Given the description of an element on the screen output the (x, y) to click on. 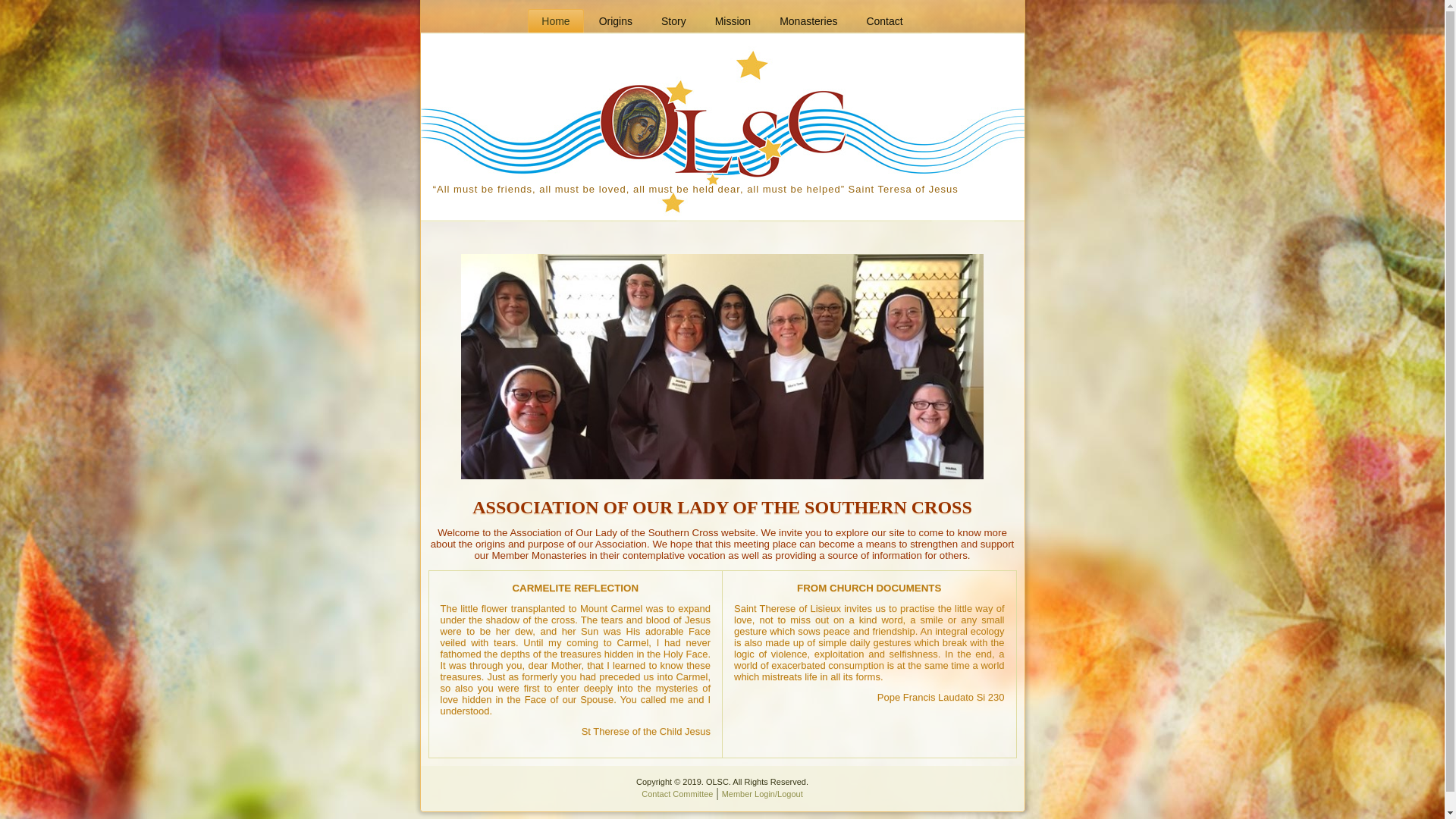
Contact Element type: text (884, 20)
Monasteries Element type: text (807, 20)
Mission Element type: text (732, 20)
Member Login/Logout Element type: text (762, 793)
Origins Element type: text (615, 20)
Home Element type: text (555, 20)
Story Element type: text (673, 20)
Contact Committee Element type: text (676, 793)
